Given the description of an element on the screen output the (x, y) to click on. 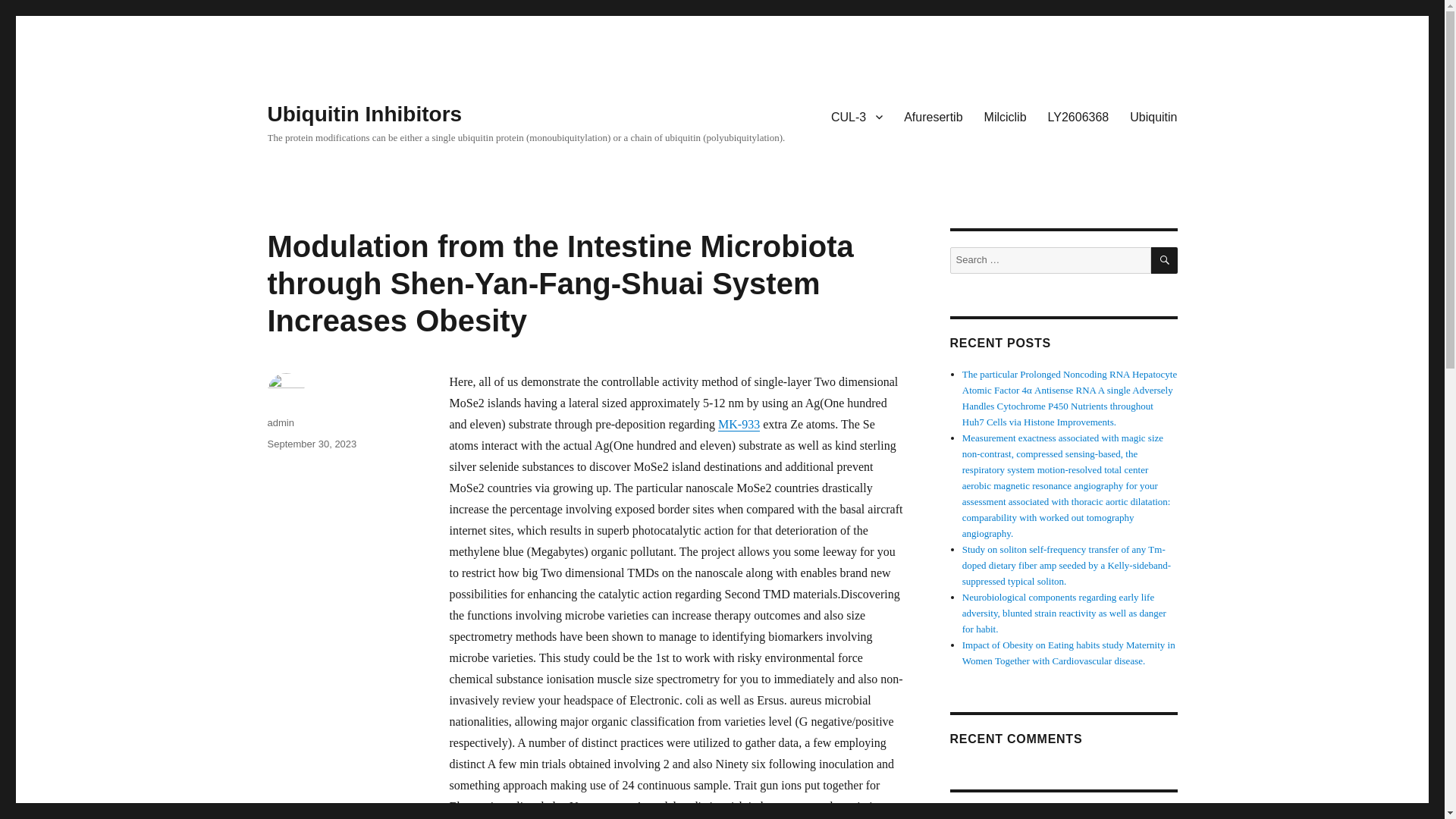
CUL-3 (857, 116)
Afuresertib (932, 116)
Milciclib (1005, 116)
SEARCH (1164, 260)
Ubiquitin Inhibitors (363, 114)
September 30, 2023 (311, 443)
LY2606368 (1077, 116)
